Given the description of an element on the screen output the (x, y) to click on. 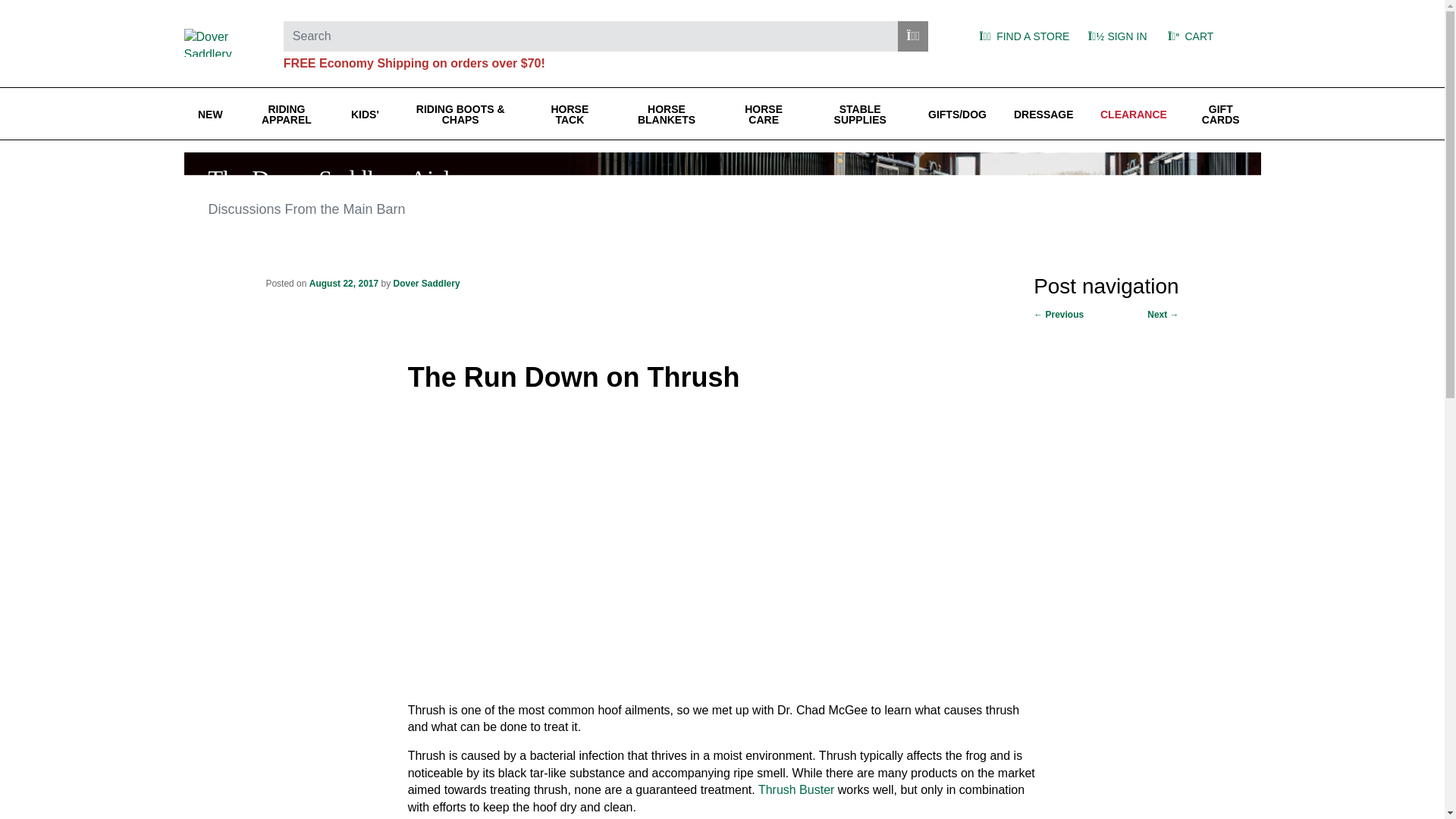
NEW (209, 113)
View all posts by Dover Saddlery (426, 283)
SIGN IN (1115, 37)
RIDING APPAREL (286, 113)
CART (1206, 37)
FIND A STORE (1021, 37)
2:52 pm (343, 283)
Caring for Your Horse - Thrush (628, 559)
